Given the description of an element on the screen output the (x, y) to click on. 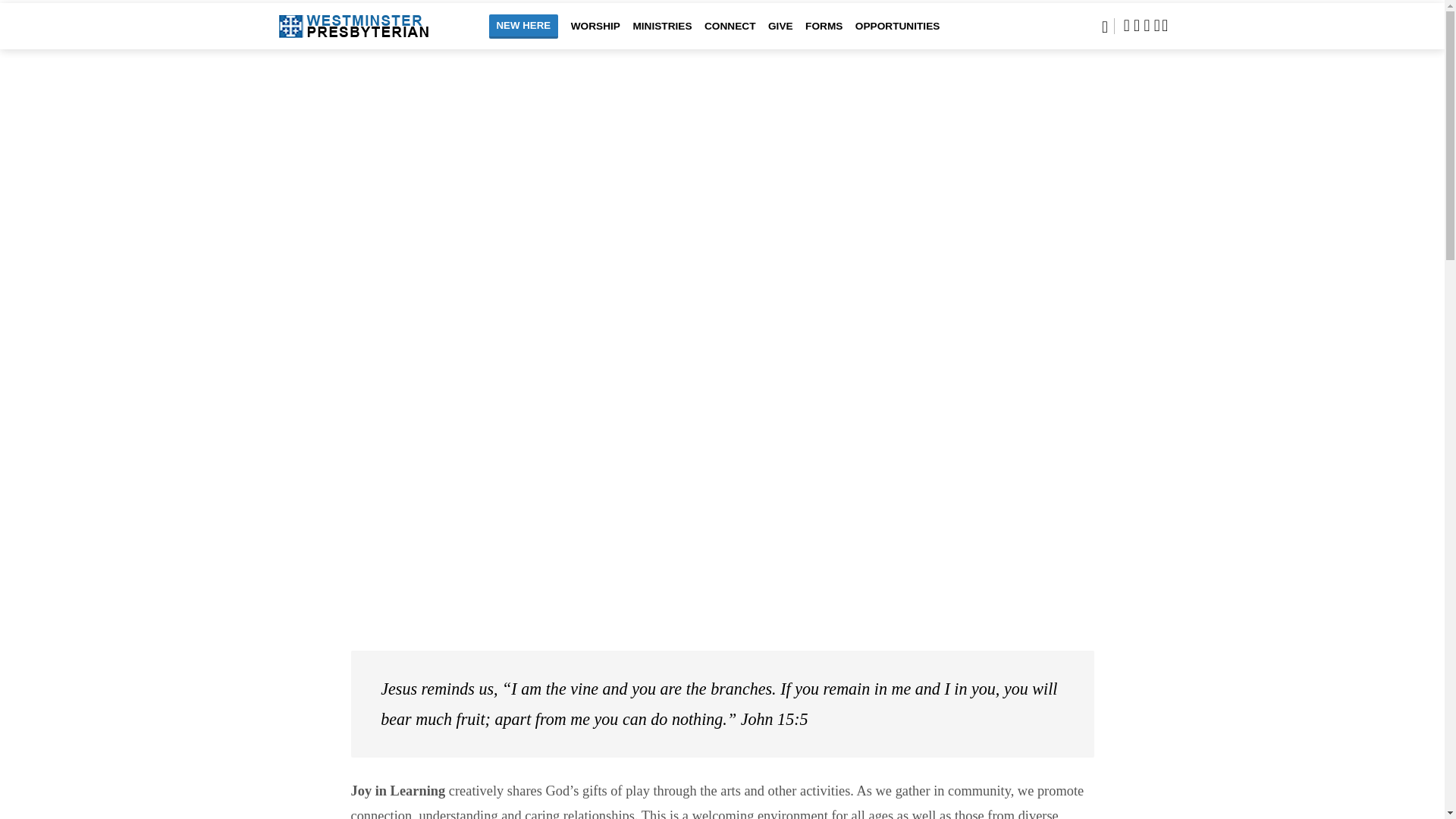
NEW HERE (522, 25)
WORSHIP (595, 35)
MINISTRIES (661, 35)
